Given the description of an element on the screen output the (x, y) to click on. 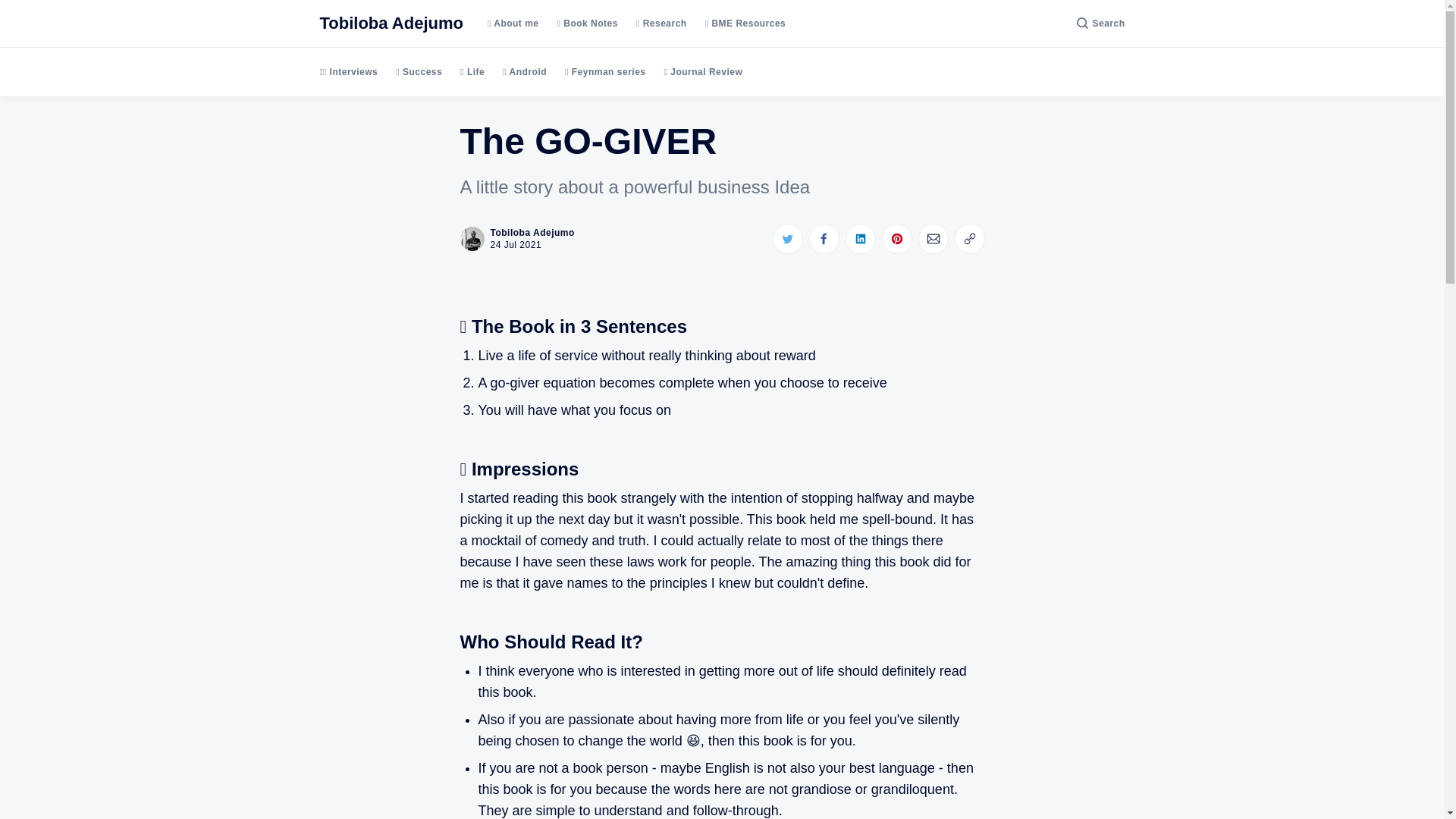
Tobiloba Adejumo (516, 238)
Share on Twitter (391, 23)
24 July 2021 (786, 238)
Copy link (515, 244)
Share on Facebook (968, 238)
Share via Email (823, 238)
Search (932, 238)
Share on LinkedIn (1100, 23)
Share on Pinterest (859, 238)
